Given the description of an element on the screen output the (x, y) to click on. 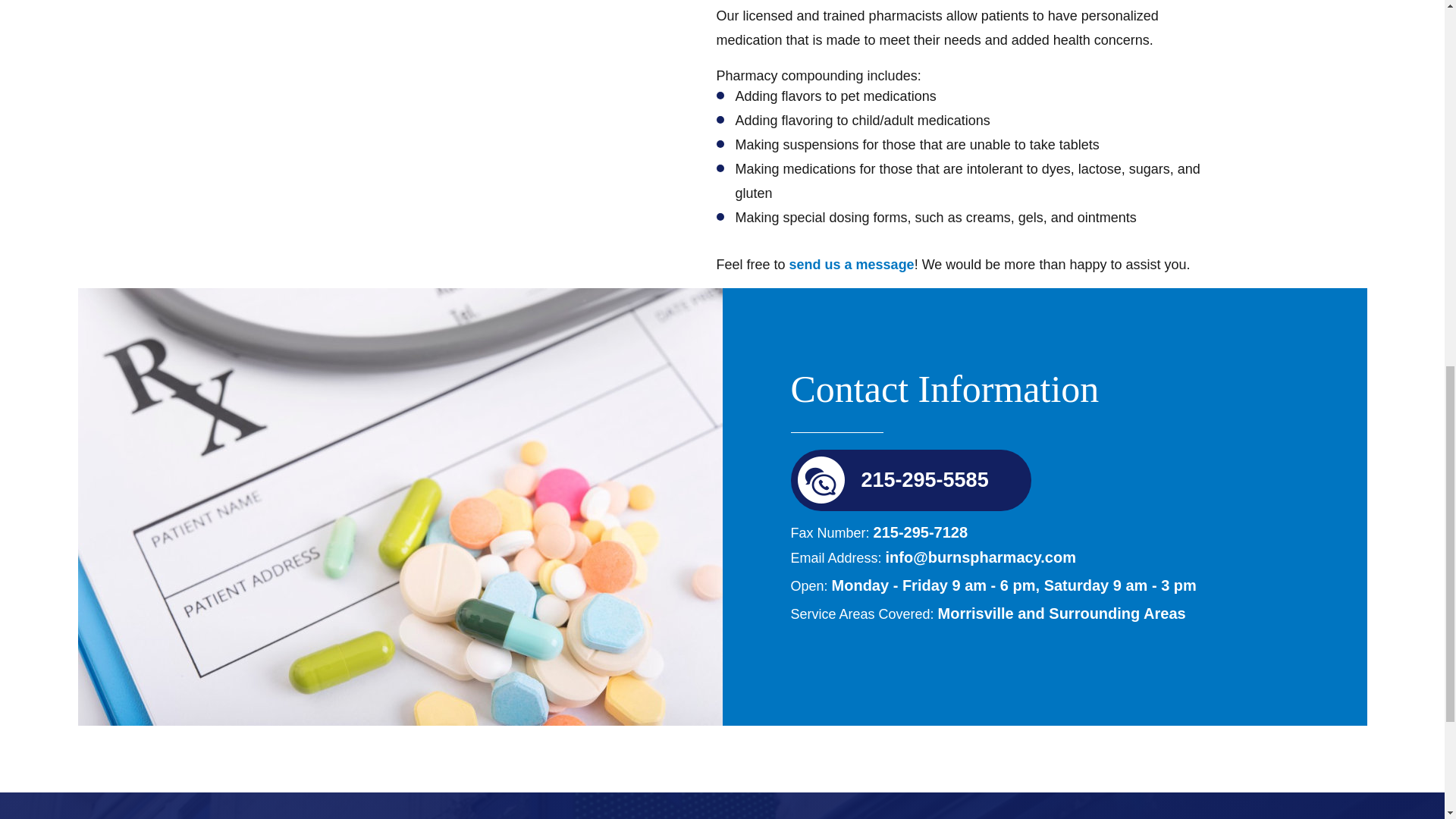
send us a message (851, 264)
215-295-5585 (924, 479)
